Given the description of an element on the screen output the (x, y) to click on. 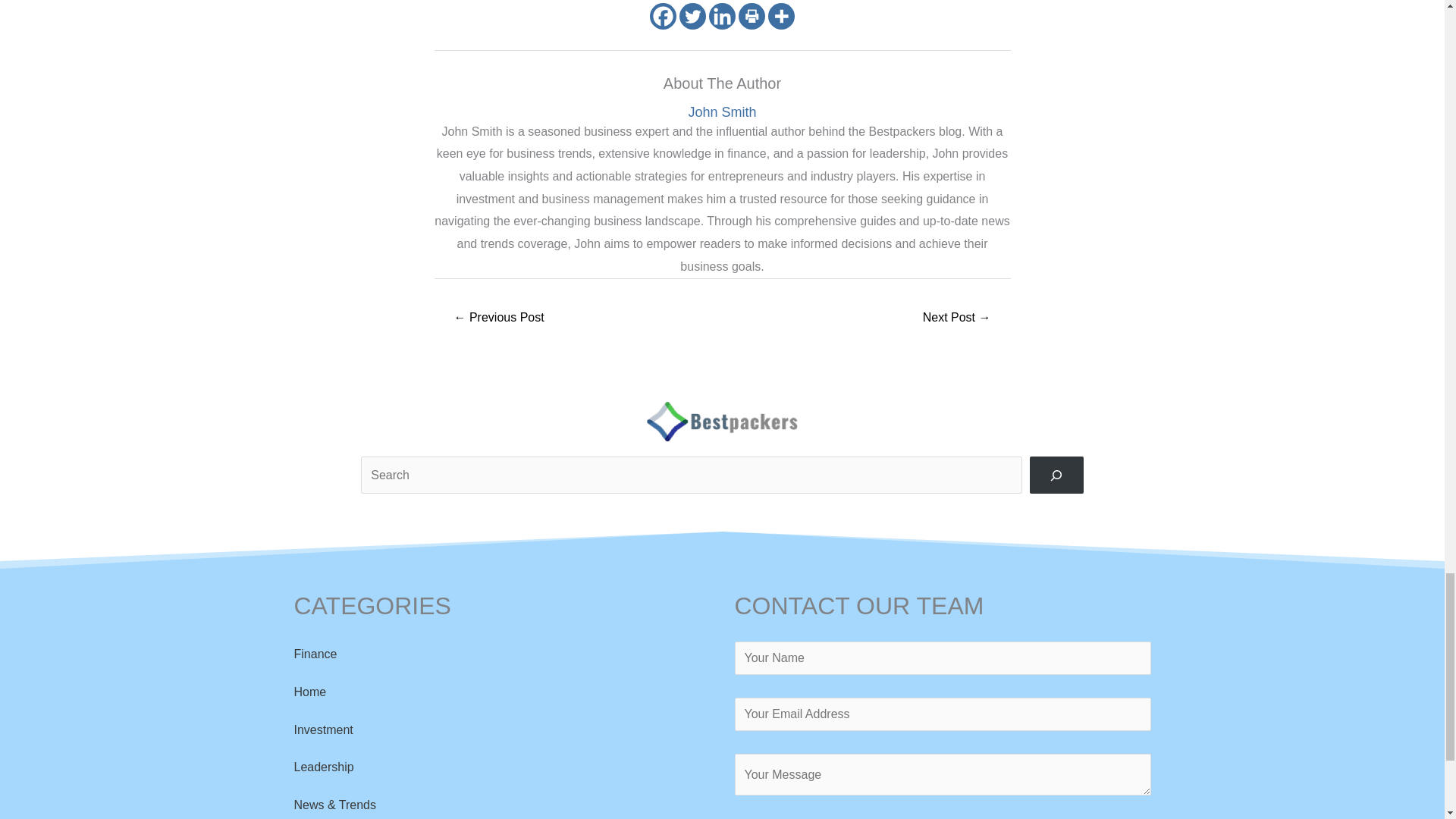
Print (751, 16)
Leadership (323, 766)
How to Improve Fixer-upper Properties (498, 318)
Home (310, 691)
More (781, 16)
How Investing in Real Estate Can Help You Make a Living (956, 318)
Investment (323, 729)
Twitter (692, 16)
Linkedin (722, 16)
John Smith (721, 112)
Finance (315, 653)
Facebook (663, 16)
